Given the description of an element on the screen output the (x, y) to click on. 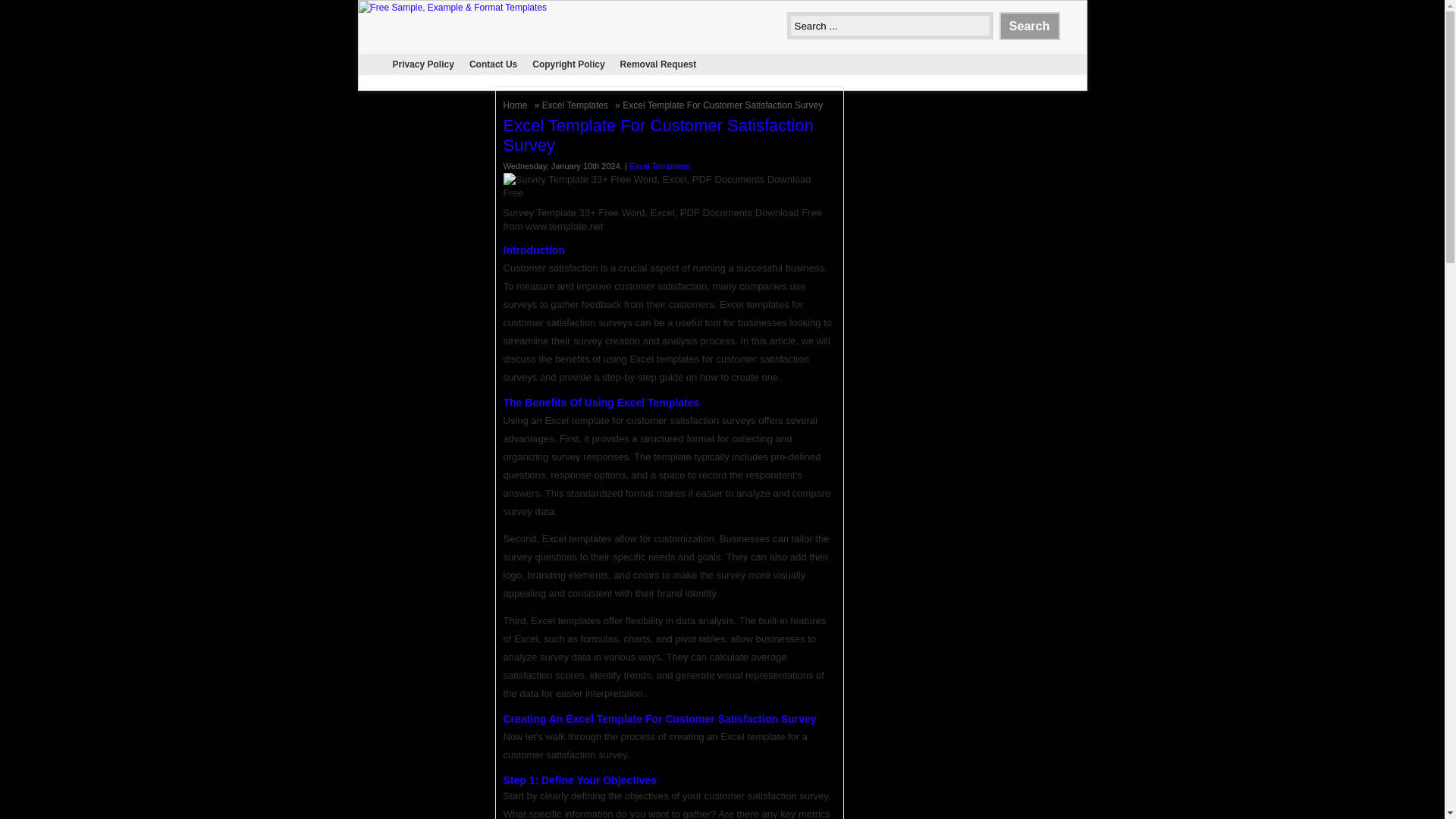
Home (517, 104)
Excel Templates (576, 104)
Removal Request (658, 64)
Copyright Policy (567, 64)
Search (1028, 26)
Contact Us (492, 64)
Search (1028, 26)
Excel Templates (576, 104)
Privacy Policy (423, 64)
Search ...  (889, 25)
